Given the description of an element on the screen output the (x, y) to click on. 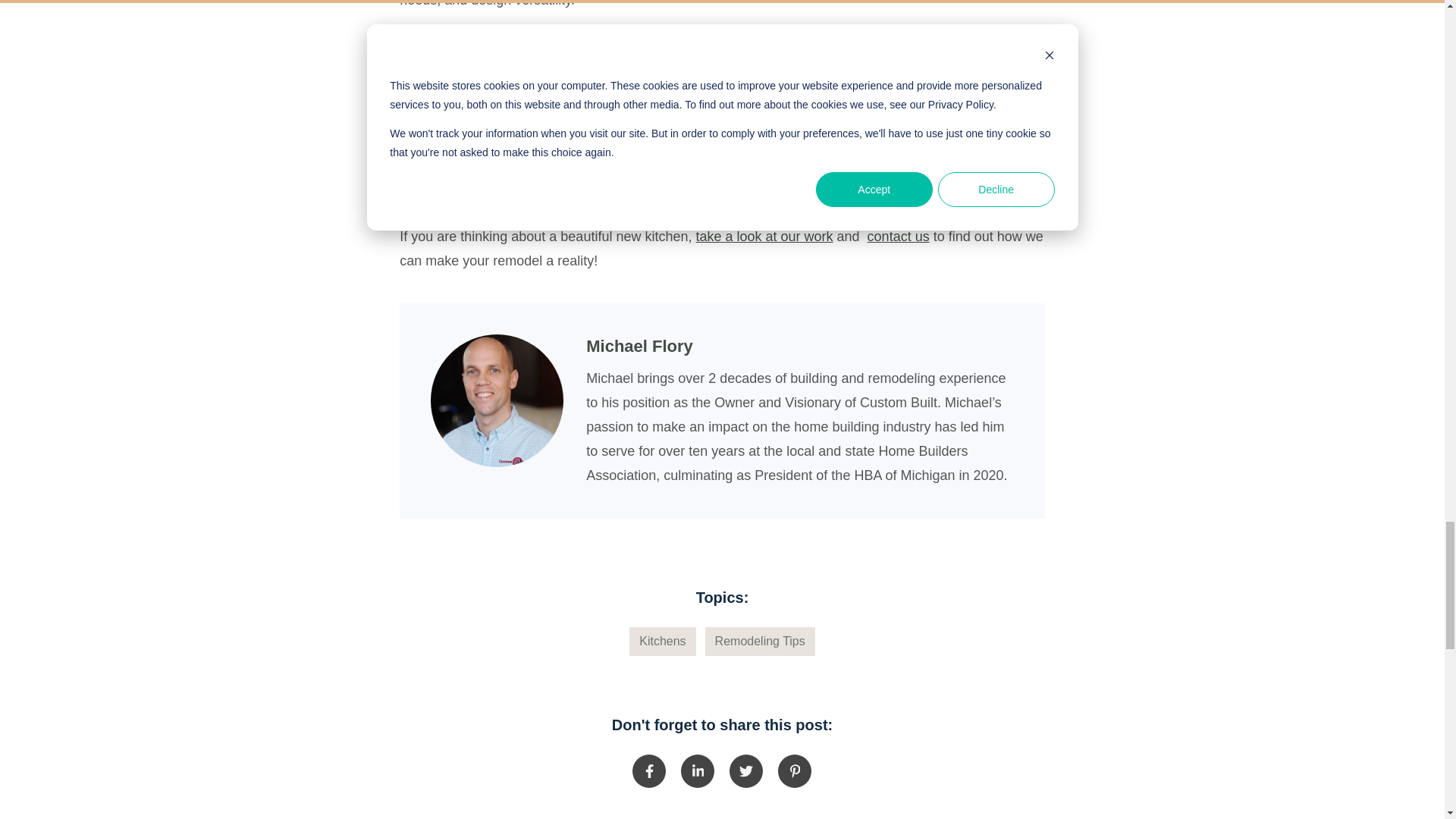
Michael Flory (496, 400)
Share on Facebook (648, 770)
Share on Twitter (745, 770)
Share on Linkedin (697, 770)
Share on Pinterest (793, 770)
Kitchens (661, 641)
Remodeling Tips (759, 641)
